Given the description of an element on the screen output the (x, y) to click on. 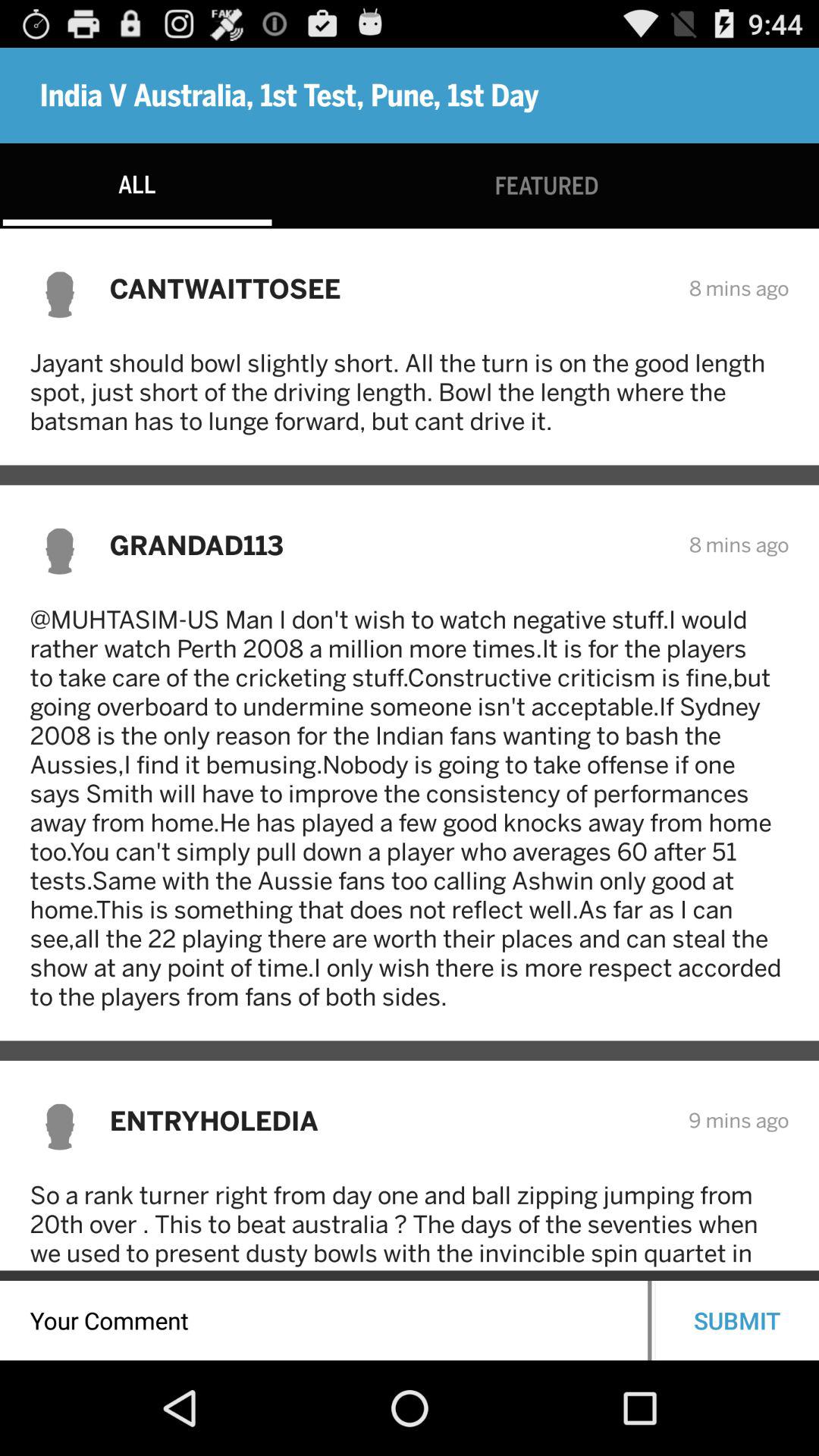
turn off the icon above cantwaittosee (546, 185)
